Given the description of an element on the screen output the (x, y) to click on. 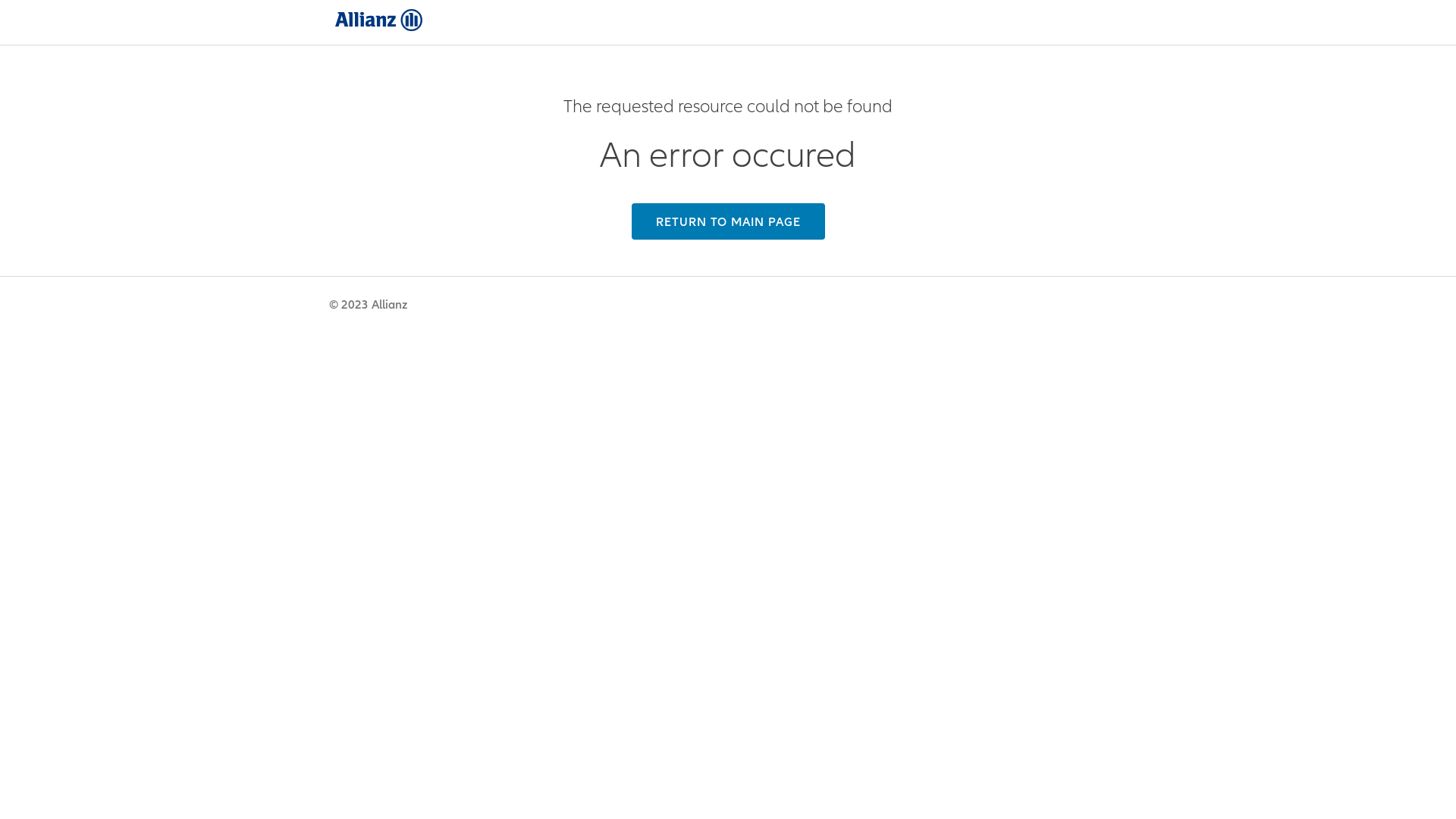
RETURN TO MAIN PAGE Element type: text (727, 221)
